Given the description of an element on the screen output the (x, y) to click on. 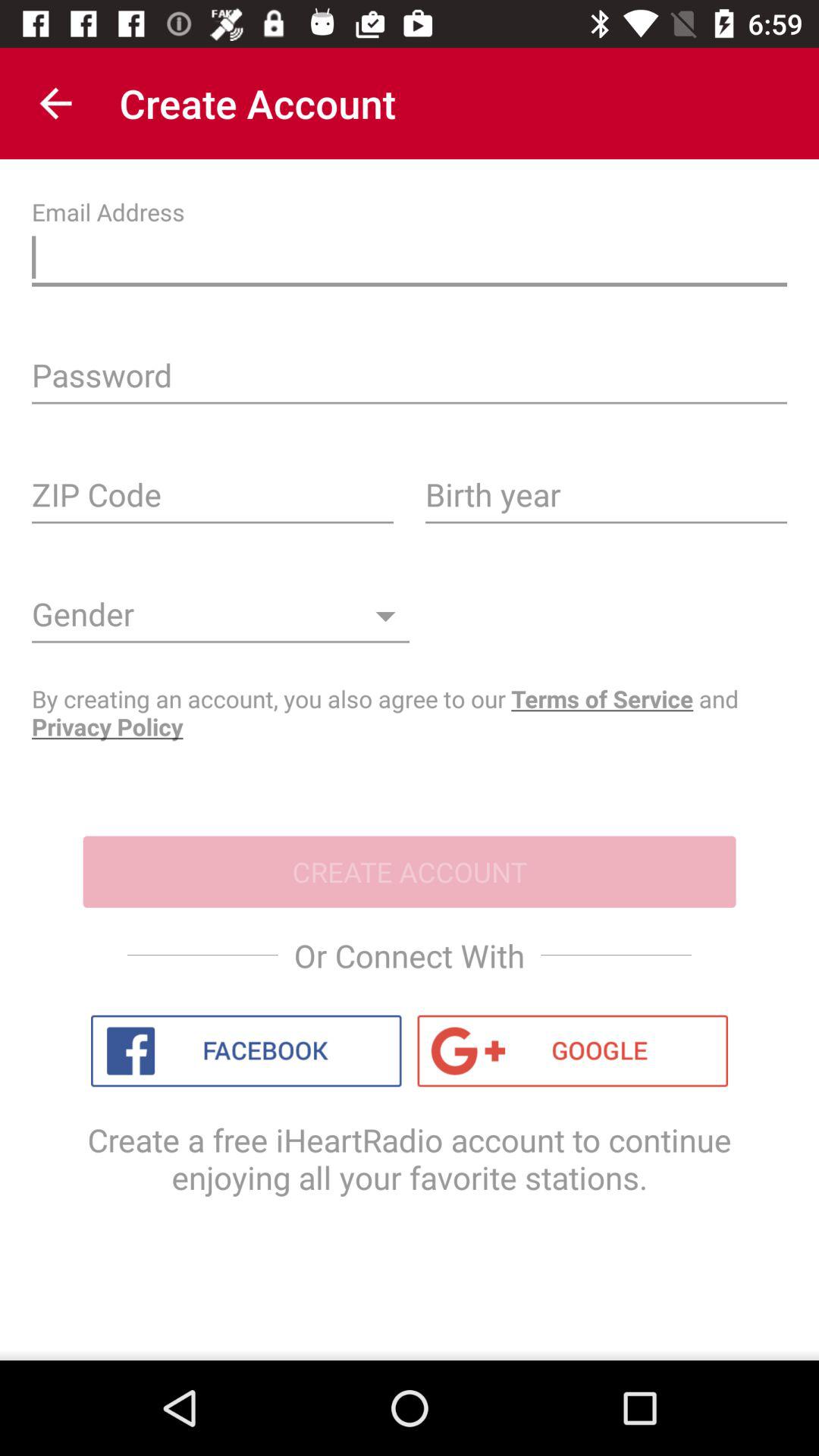
swipe until the by creating an icon (409, 712)
